Given the description of an element on the screen output the (x, y) to click on. 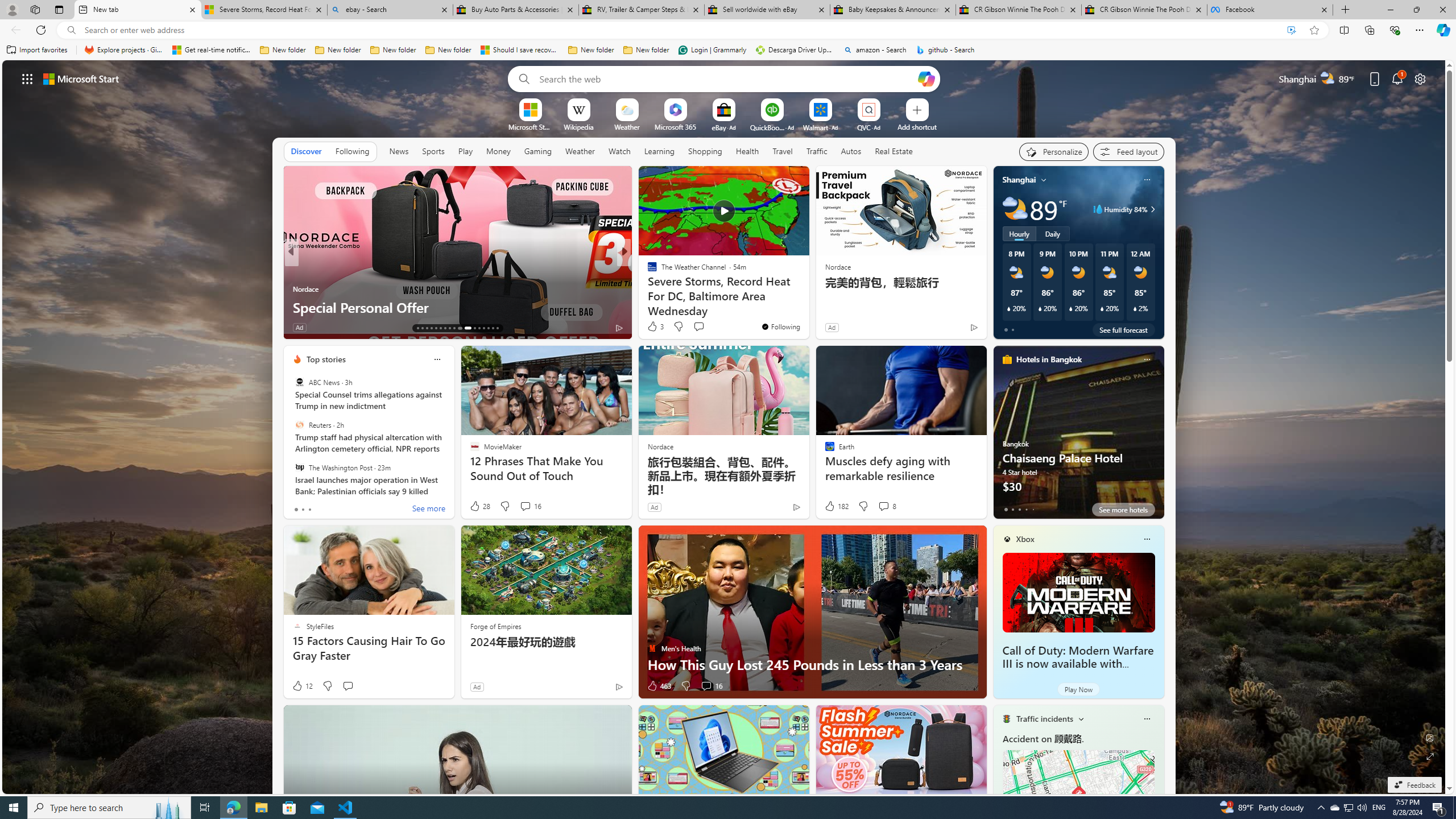
View comments 8 Comment (883, 505)
Daily (1052, 233)
Following (352, 151)
Hotels in Bangkok (1048, 359)
Minimize (1390, 9)
AutomationID: tab-13 (417, 328)
tab-2 (1019, 509)
Chaisaeng Palace Hotel (1078, 436)
Hourly (1018, 233)
Learning (658, 151)
Notifications (1397, 78)
Favorites bar (728, 49)
